Given the description of an element on the screen output the (x, y) to click on. 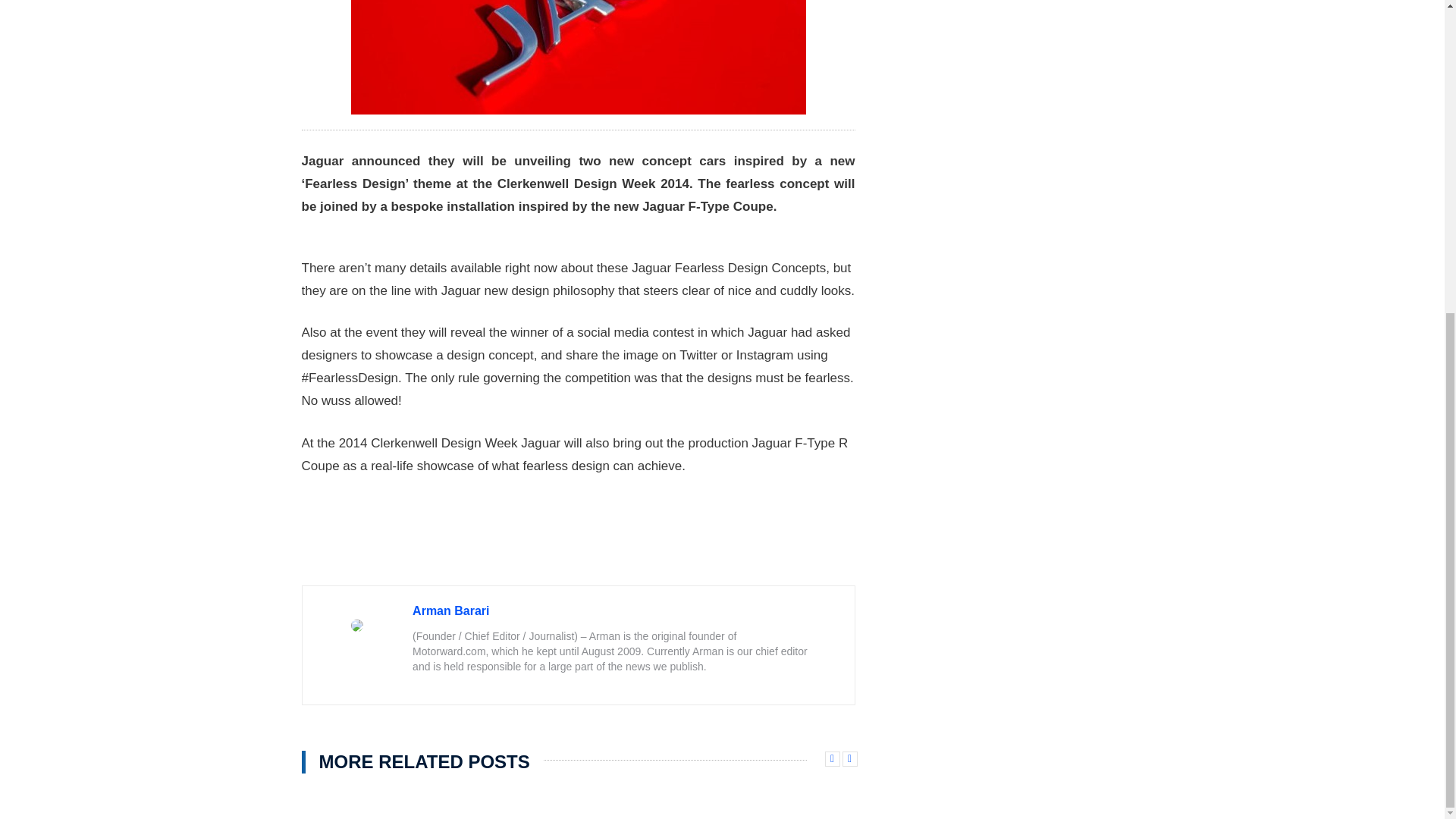
Jaguar Fearless Design 600x418 (577, 57)
Posts by Arman Barari (450, 610)
